Given the description of an element on the screen output the (x, y) to click on. 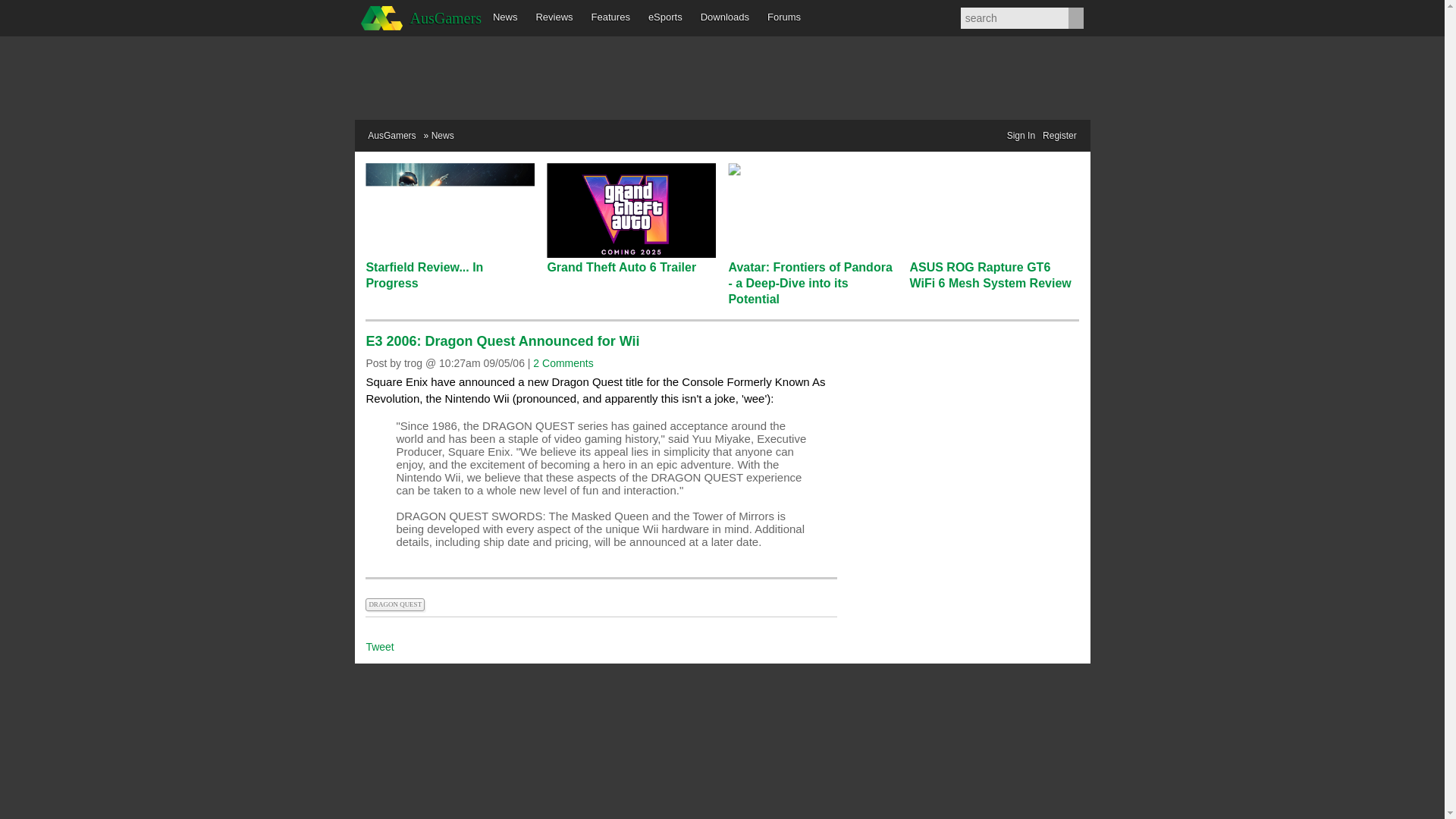
Reviews (552, 18)
Features (610, 18)
News (505, 18)
AusGamers (391, 135)
2 Comments (562, 363)
Starfield Review... In Progress (424, 275)
Downloads (724, 18)
AusGamers (419, 18)
Register (1059, 135)
eSports (665, 18)
Grand Theft Auto 6 Trailer (621, 267)
Forums (783, 18)
News (442, 135)
DRAGON QUEST (396, 603)
